Given the description of an element on the screen output the (x, y) to click on. 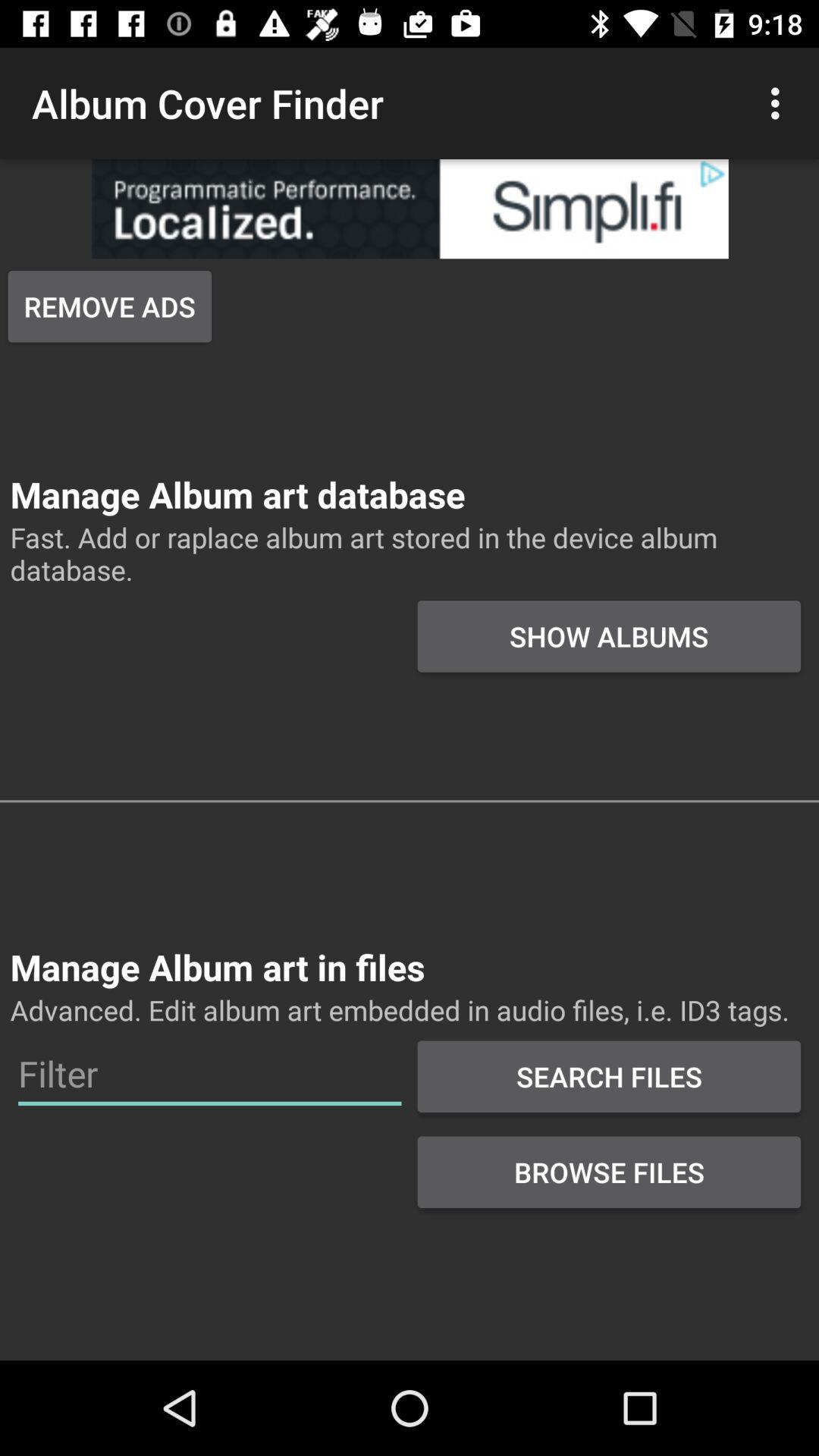
editing filter (209, 1074)
